Given the description of an element on the screen output the (x, y) to click on. 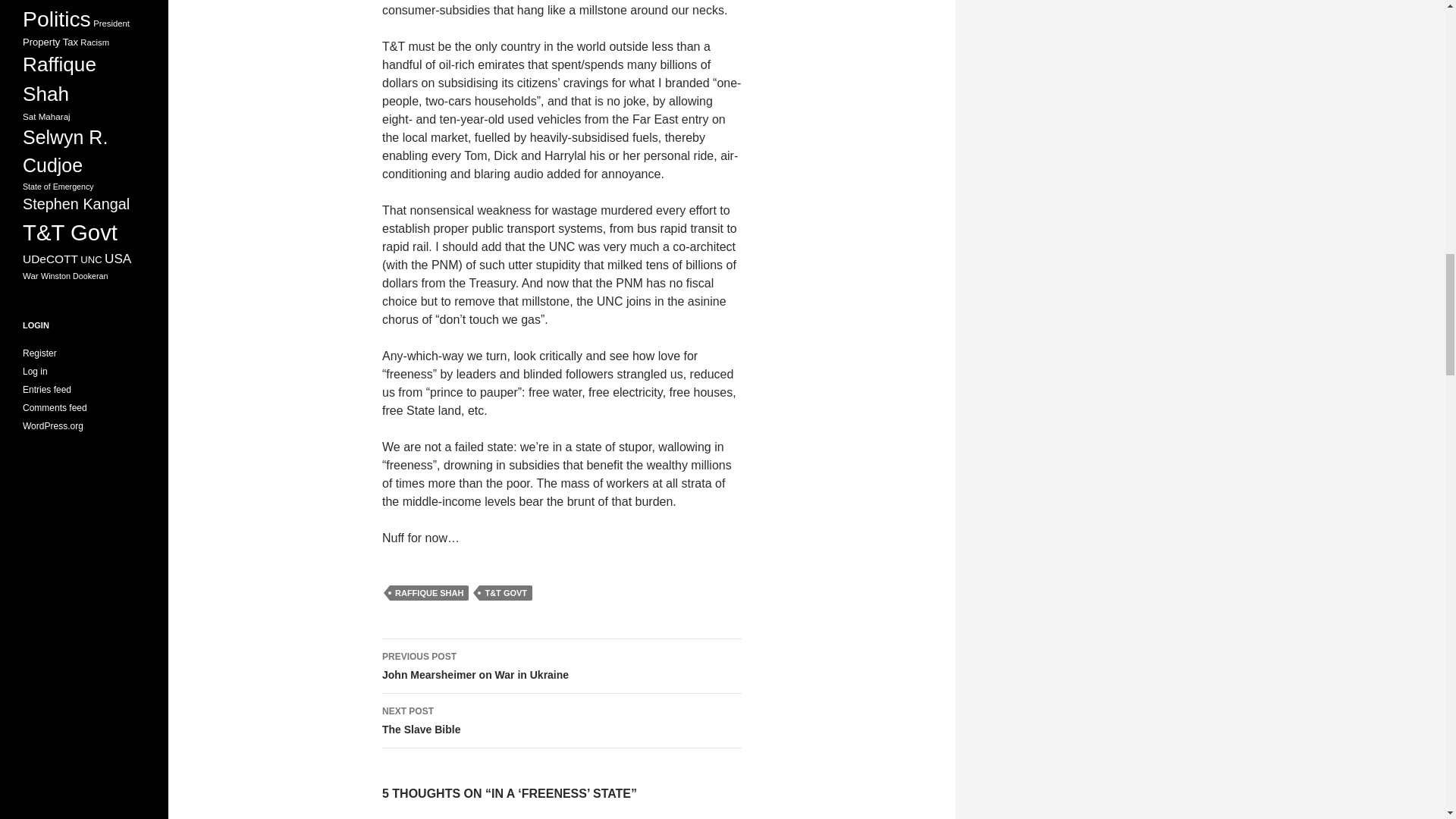
RAFFIQUE SHAH (561, 720)
